Given the description of an element on the screen output the (x, y) to click on. 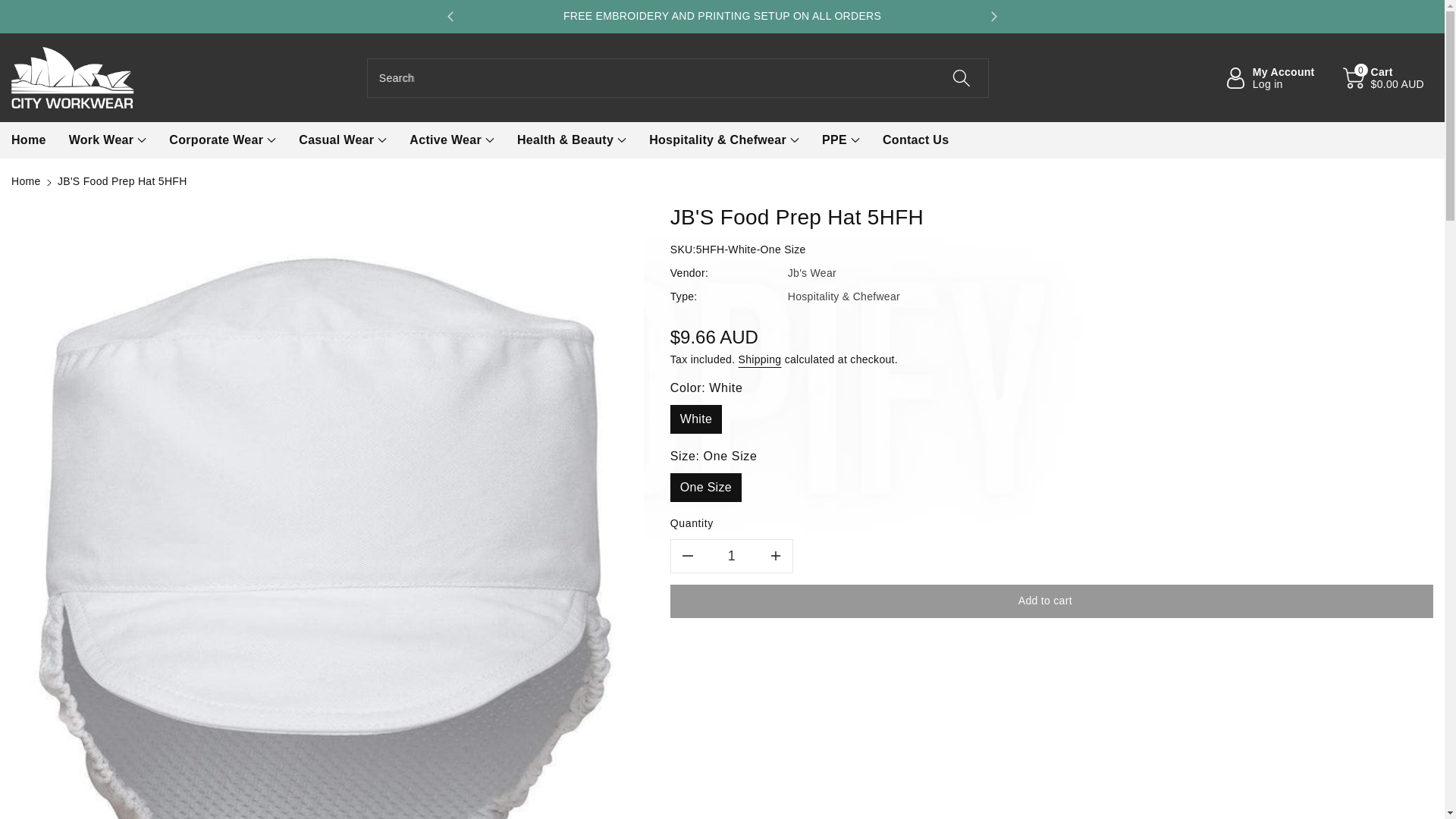
FREE EMBROIDERY AND PRINTING SETUP ON ALL ORDERS (721, 16)
1 (731, 555)
Skip to content (13, 8)
Home (25, 181)
